Given the description of an element on the screen output the (x, y) to click on. 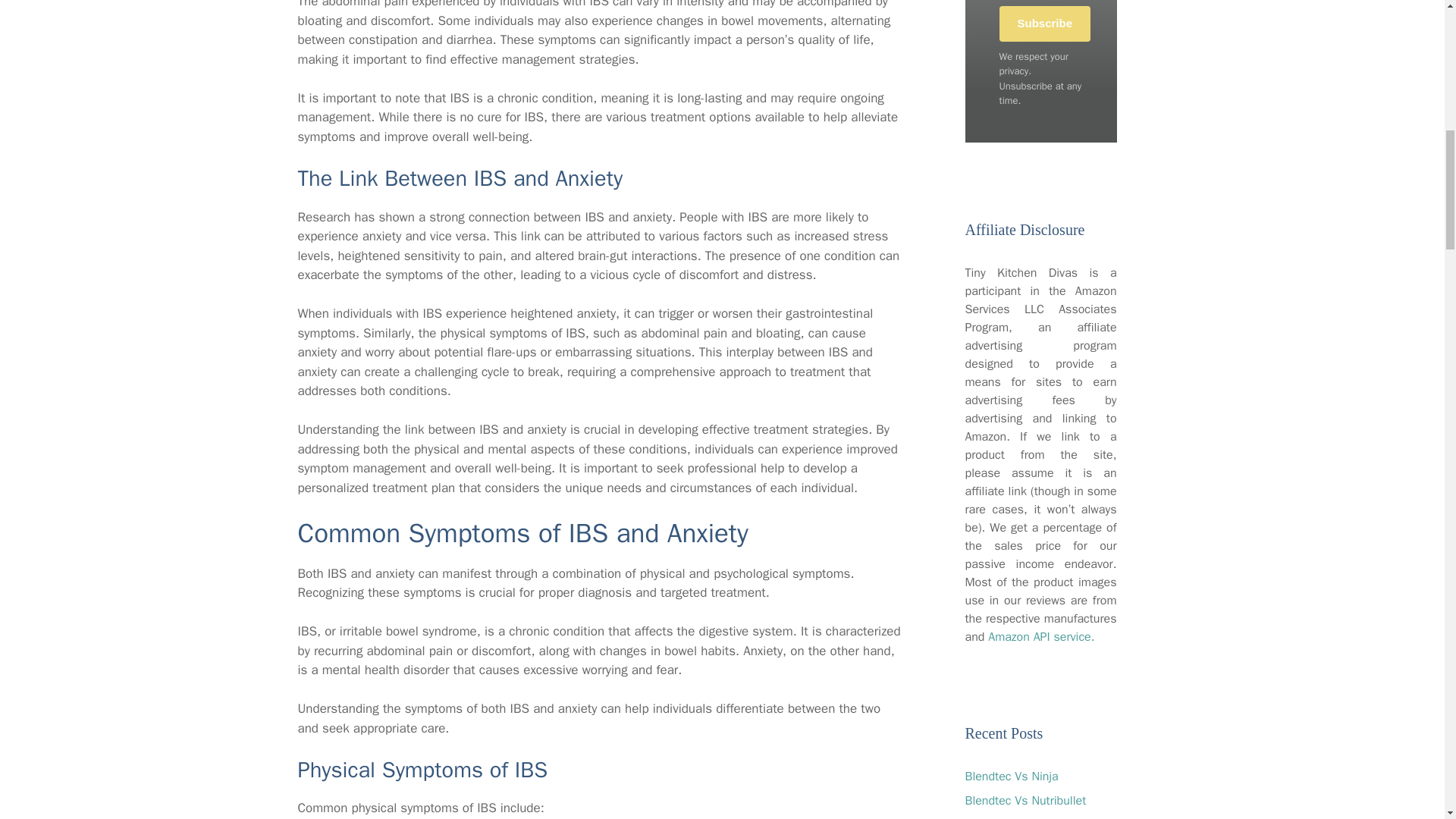
Blendtec Vs Nutribullet (1024, 800)
Scroll back to top (1406, 720)
Amazon API service. (1041, 636)
Blendtec Vs Ninja (1010, 776)
Subscribe (1044, 23)
